Given the description of an element on the screen output the (x, y) to click on. 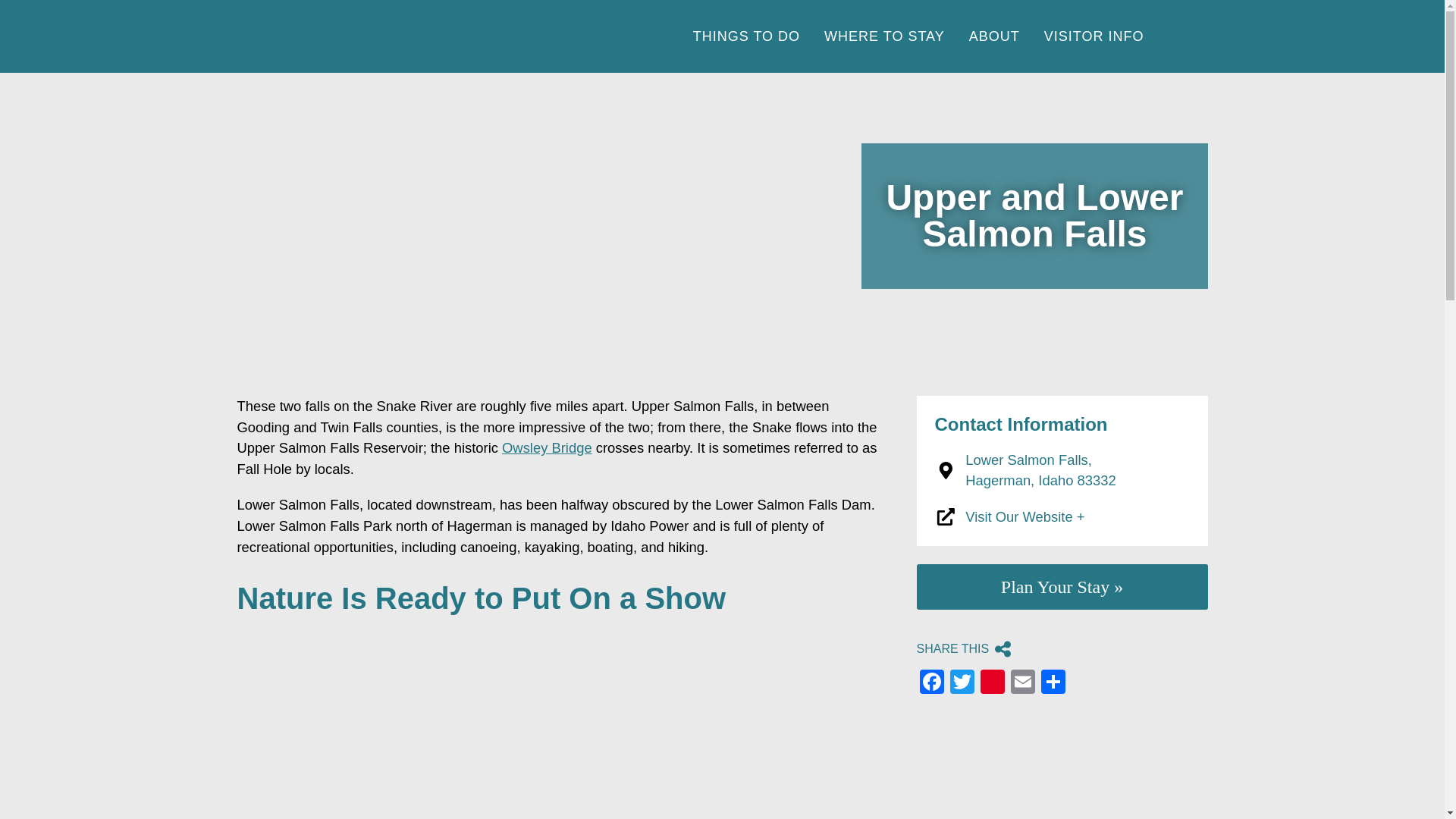
WHERE TO STAY (884, 36)
Owsley Bridge (547, 447)
ABOUT (994, 36)
THINGS TO DO (1040, 470)
VISITOR INFO (746, 36)
